Given the description of an element on the screen output the (x, y) to click on. 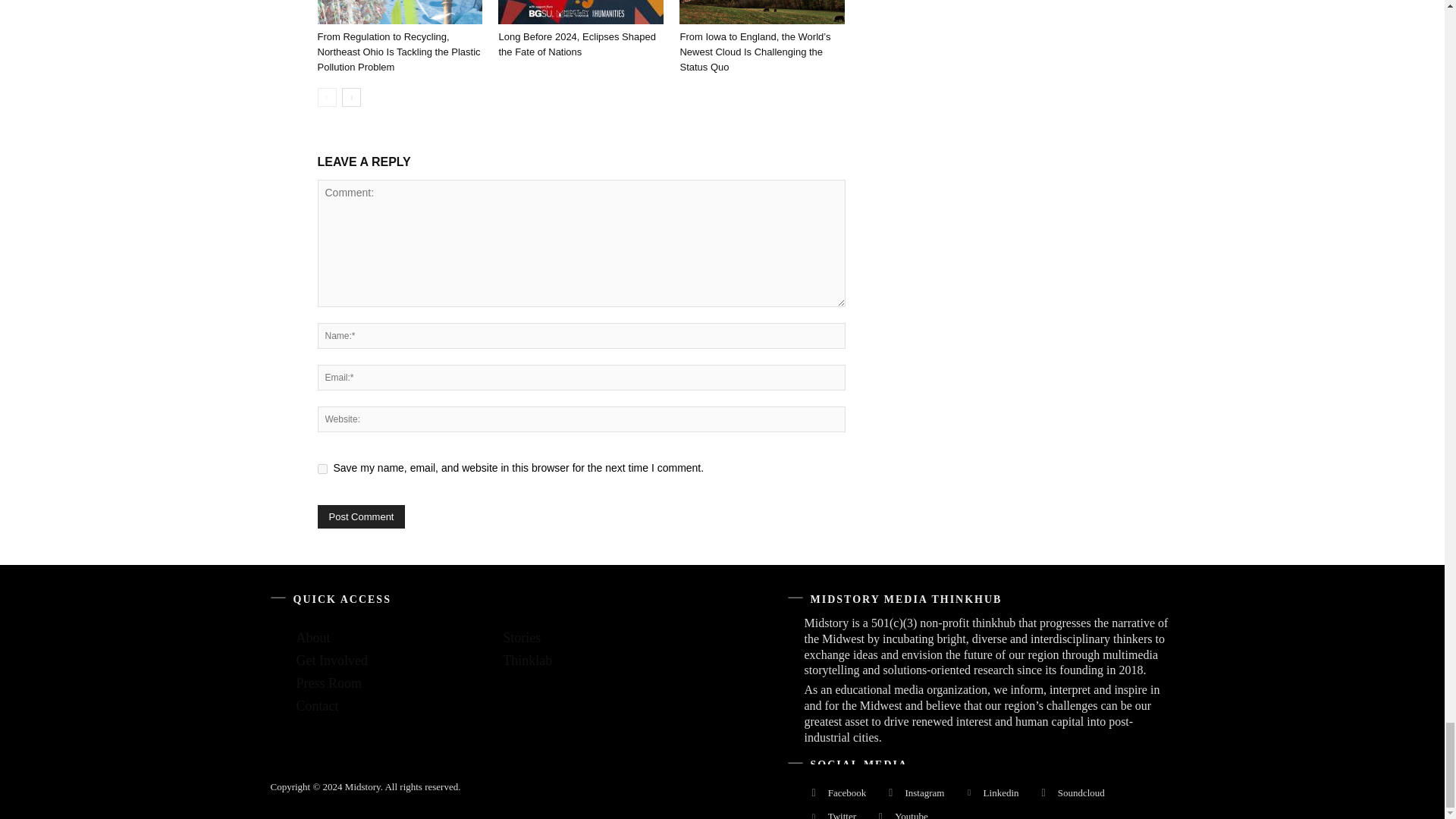
yes (321, 469)
Post Comment (360, 516)
